Given the description of an element on the screen output the (x, y) to click on. 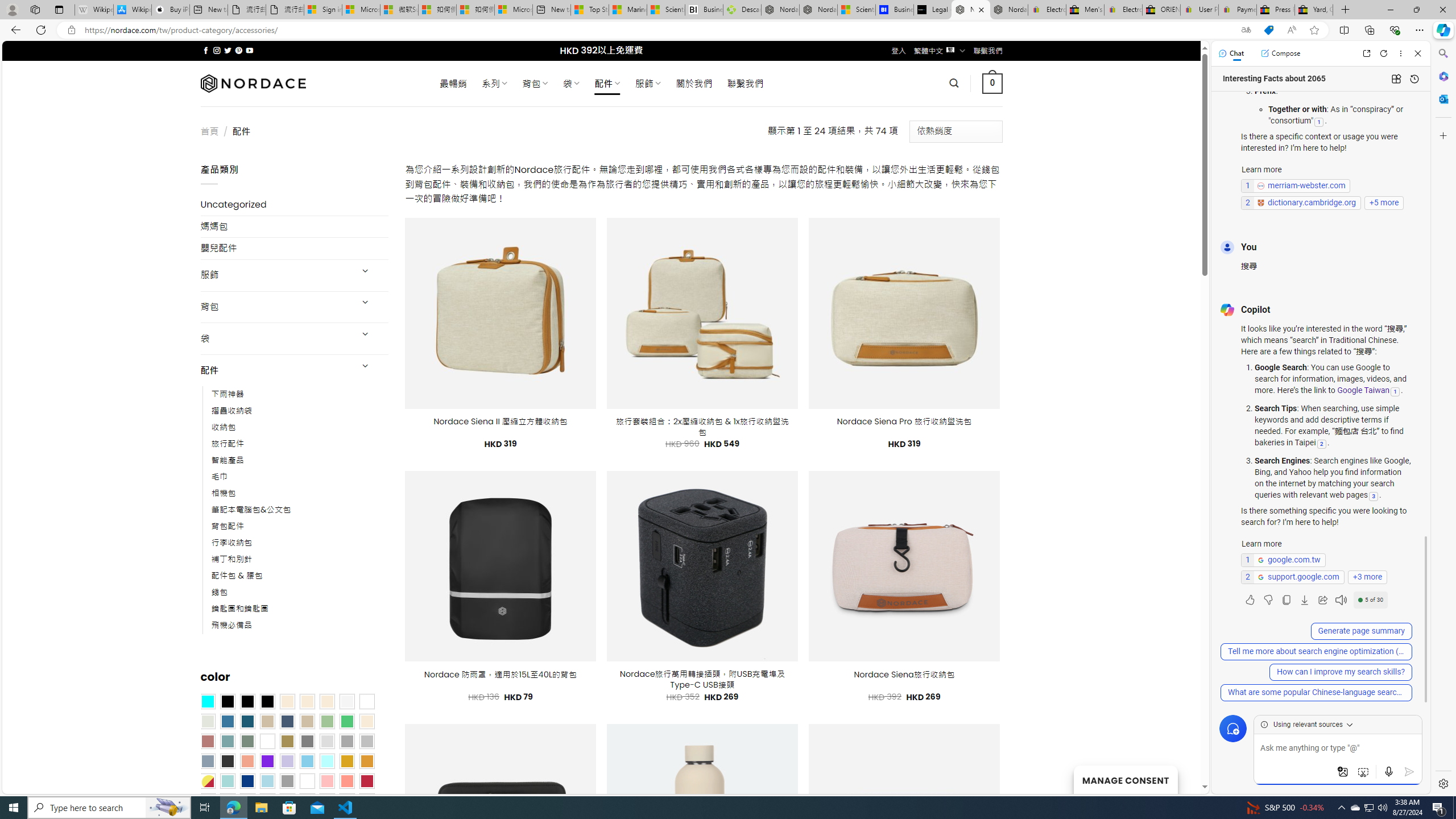
Microsoft account | Account Checkup (513, 9)
Press Room - eBay Inc. (1276, 9)
Buy iPad - Apple (171, 9)
Sign in to your Microsoft account (322, 9)
